Given the description of an element on the screen output the (x, y) to click on. 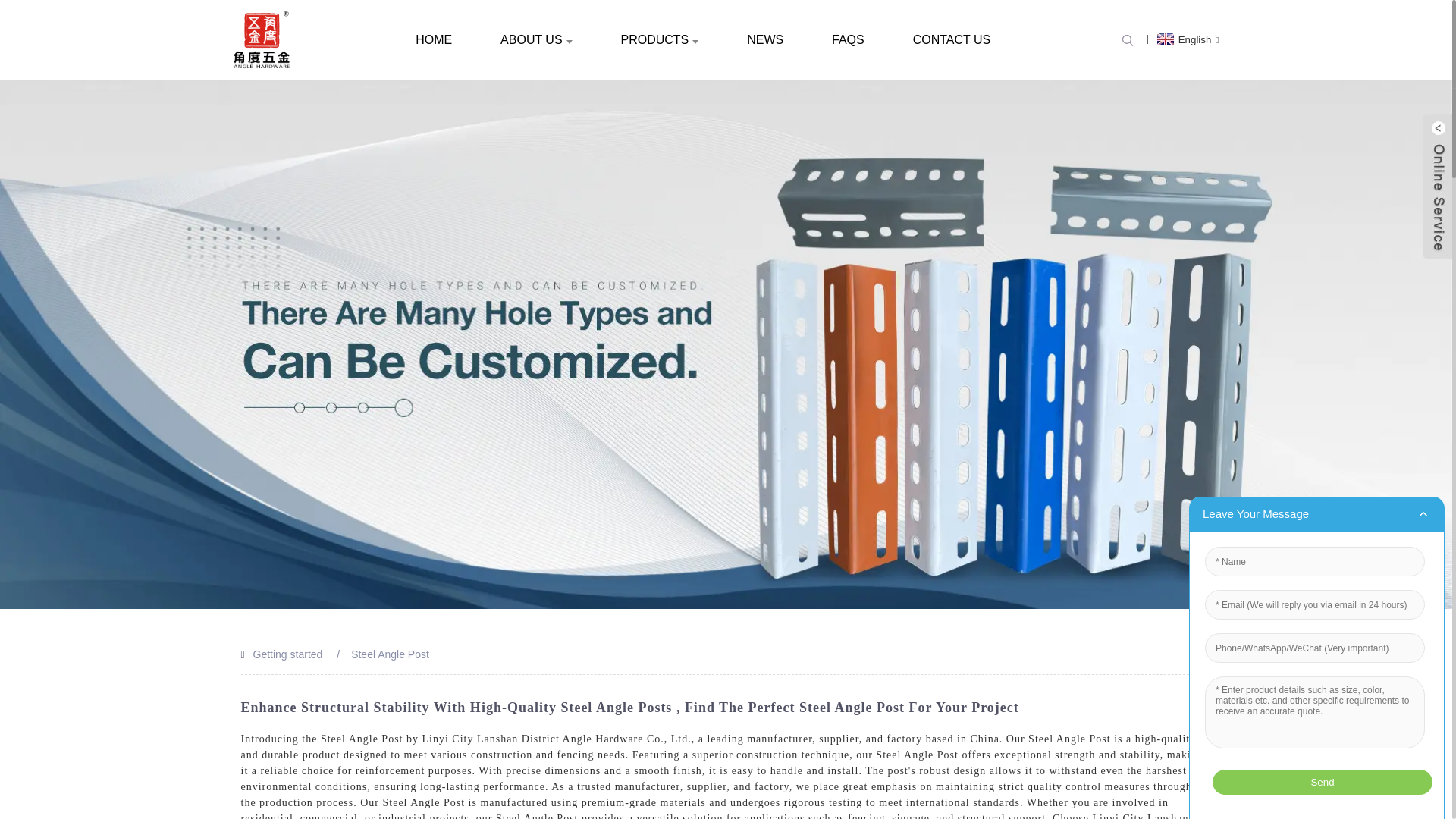
PRODUCTS (659, 39)
NEWS (764, 39)
English (1186, 39)
ABOUT US (536, 39)
CONTACT US (952, 39)
HOME (433, 39)
Steel Angle Post (389, 654)
FAQS (847, 39)
Getting started (288, 654)
